Given the description of an element on the screen output the (x, y) to click on. 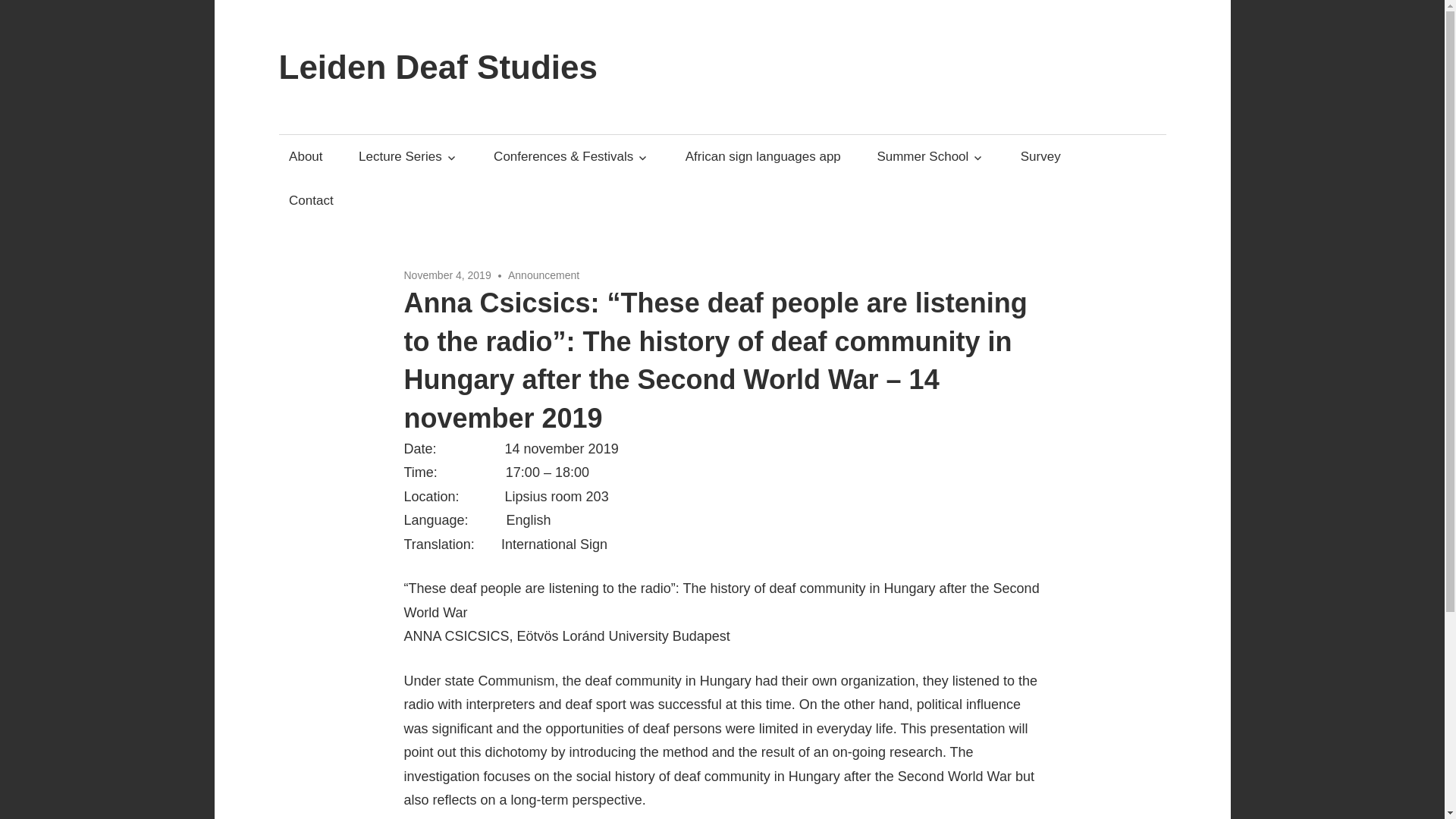
About (306, 156)
3:01 PM (446, 275)
Survey (1040, 156)
November 4, 2019 (446, 275)
Leiden Deaf Studies (438, 66)
Contact (311, 199)
Lecture Series (408, 156)
African sign languages app (762, 156)
Summer School (930, 156)
Announcement (543, 275)
